Given the description of an element on the screen output the (x, y) to click on. 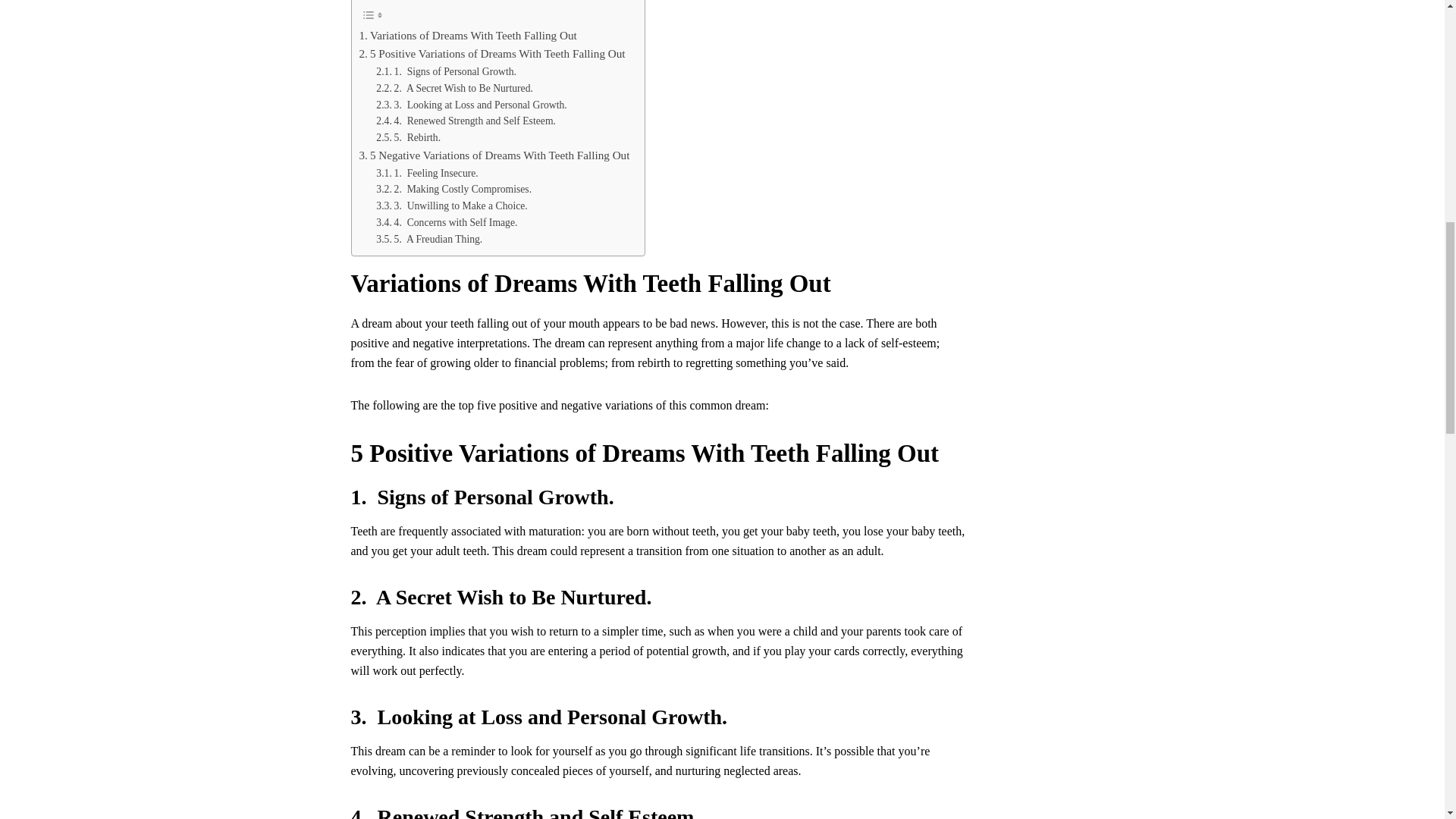
5 Negative Variations of Dreams With Teeth Falling Out (494, 155)
Variations of Dreams With Teeth Falling Out (467, 35)
